Given the description of an element on the screen output the (x, y) to click on. 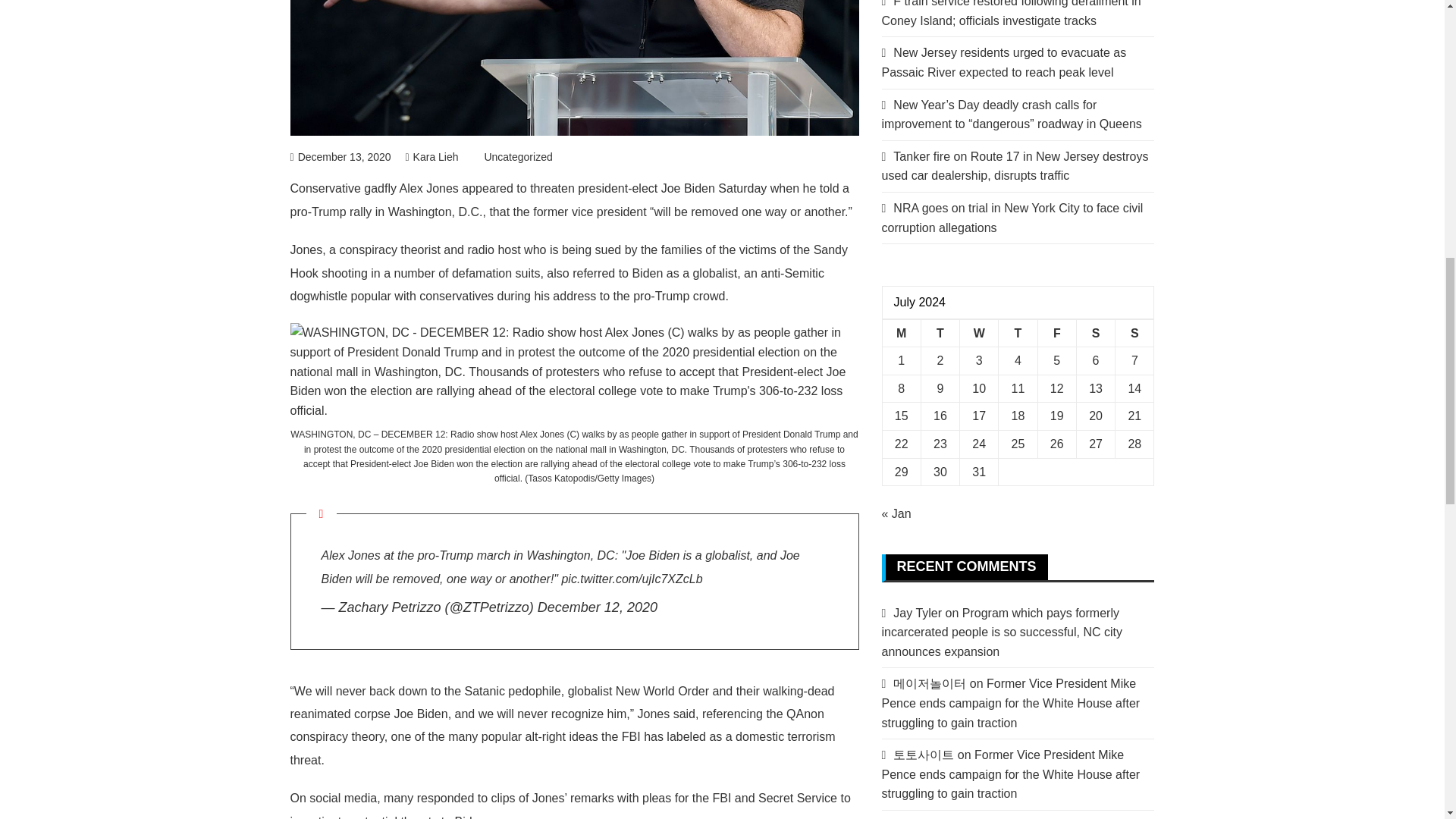
appeared to threaten (518, 187)
Wednesday (978, 333)
many popular alt-right ideas (522, 736)
December 13, 2020 (339, 156)
December 12, 2020 (597, 607)
Tuesday (939, 333)
Sunday (1134, 333)
Thursday (1017, 333)
Friday (1055, 333)
Jay Tyler (917, 612)
